Given the description of an element on the screen output the (x, y) to click on. 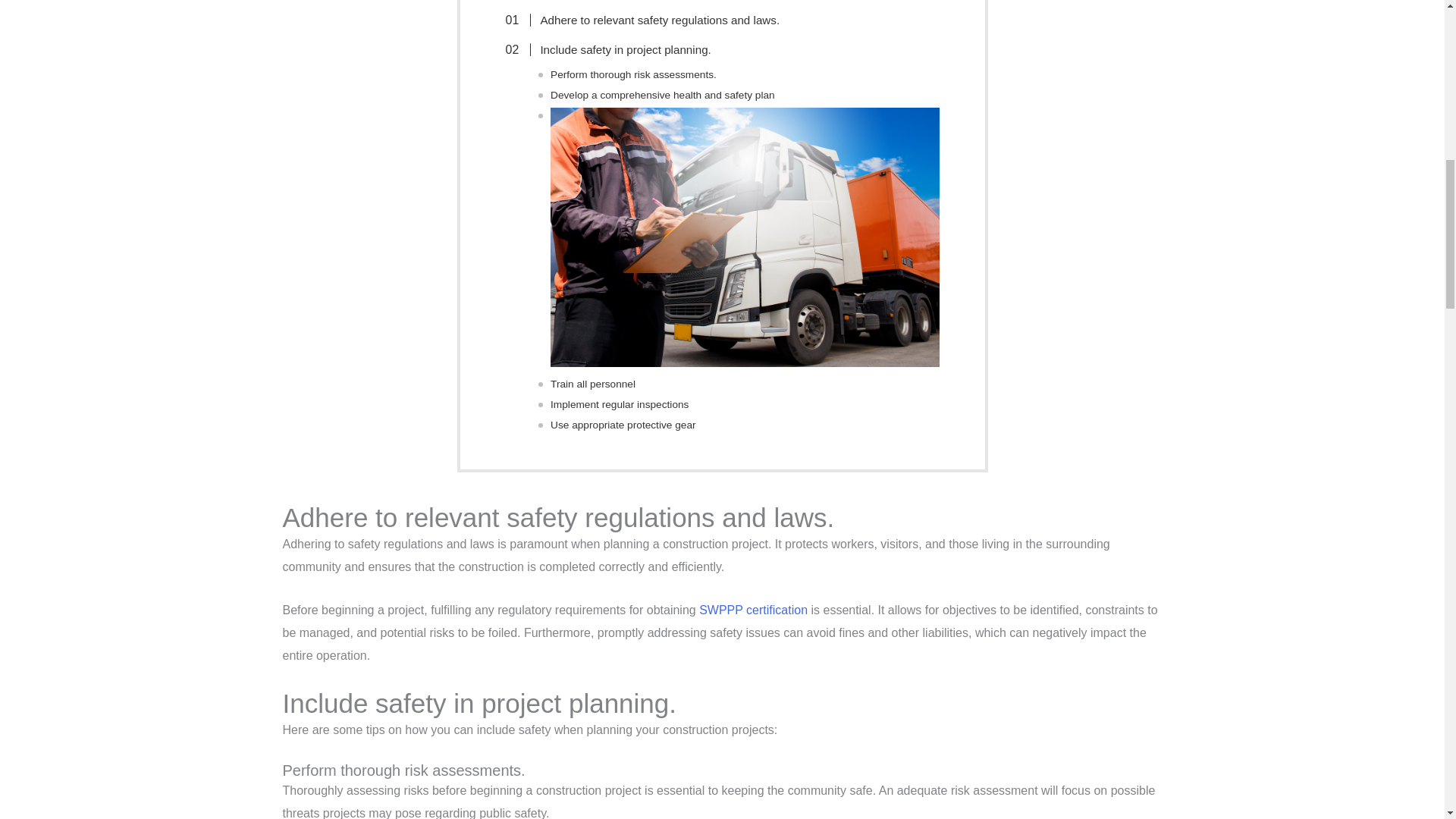
Include safety in project planning. (616, 49)
Use appropriate protective gear (622, 424)
Develop a comprehensive health and safety plan (662, 94)
Adhere to relevant safety regulations and laws. (649, 20)
Implement regular inspections (619, 404)
SWPPP certification (753, 609)
Perform thorough risk assessments. (633, 74)
Train all personnel (592, 383)
